Given the description of an element on the screen output the (x, y) to click on. 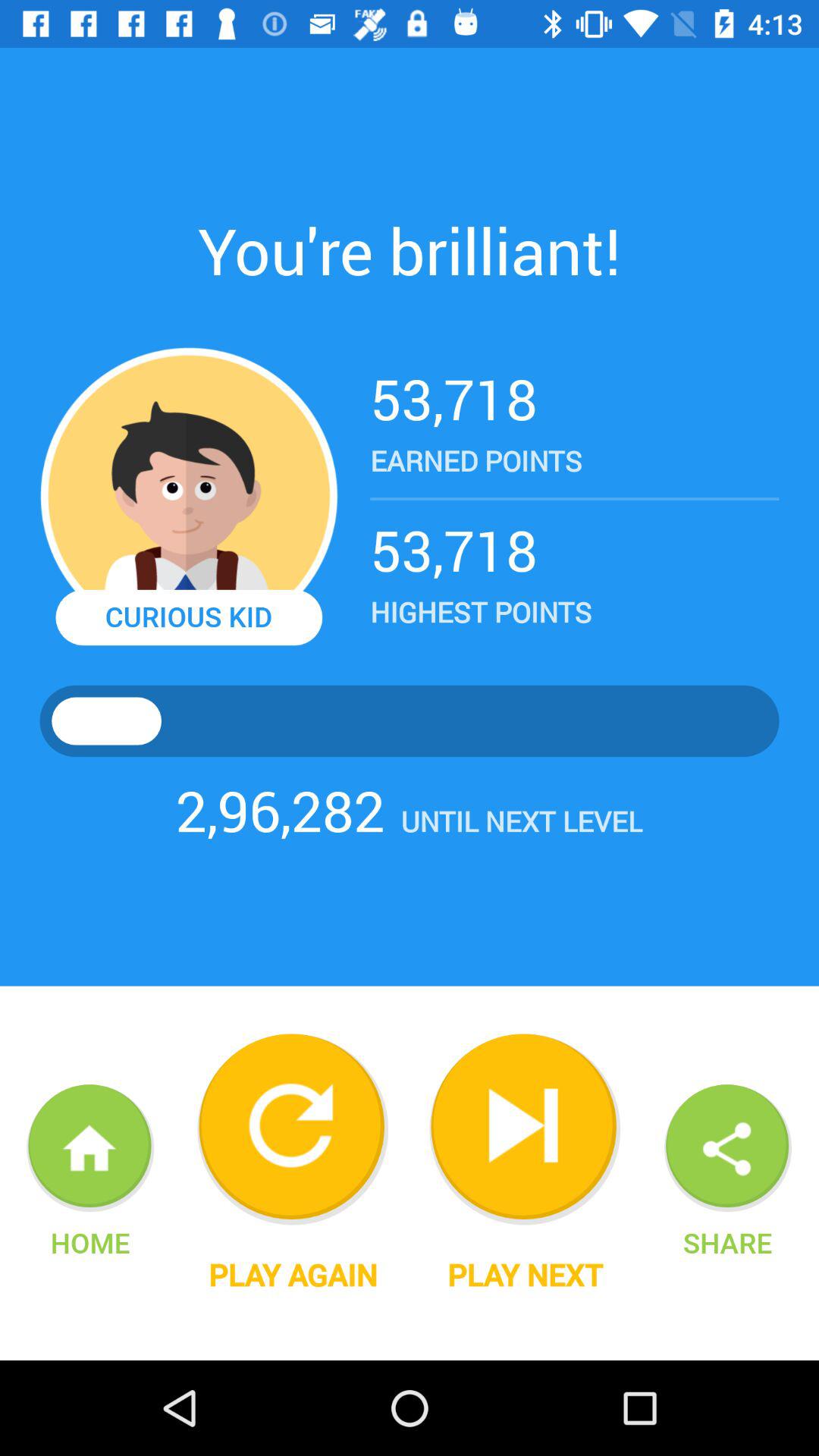
launch home (90, 1242)
